Given the description of an element on the screen output the (x, y) to click on. 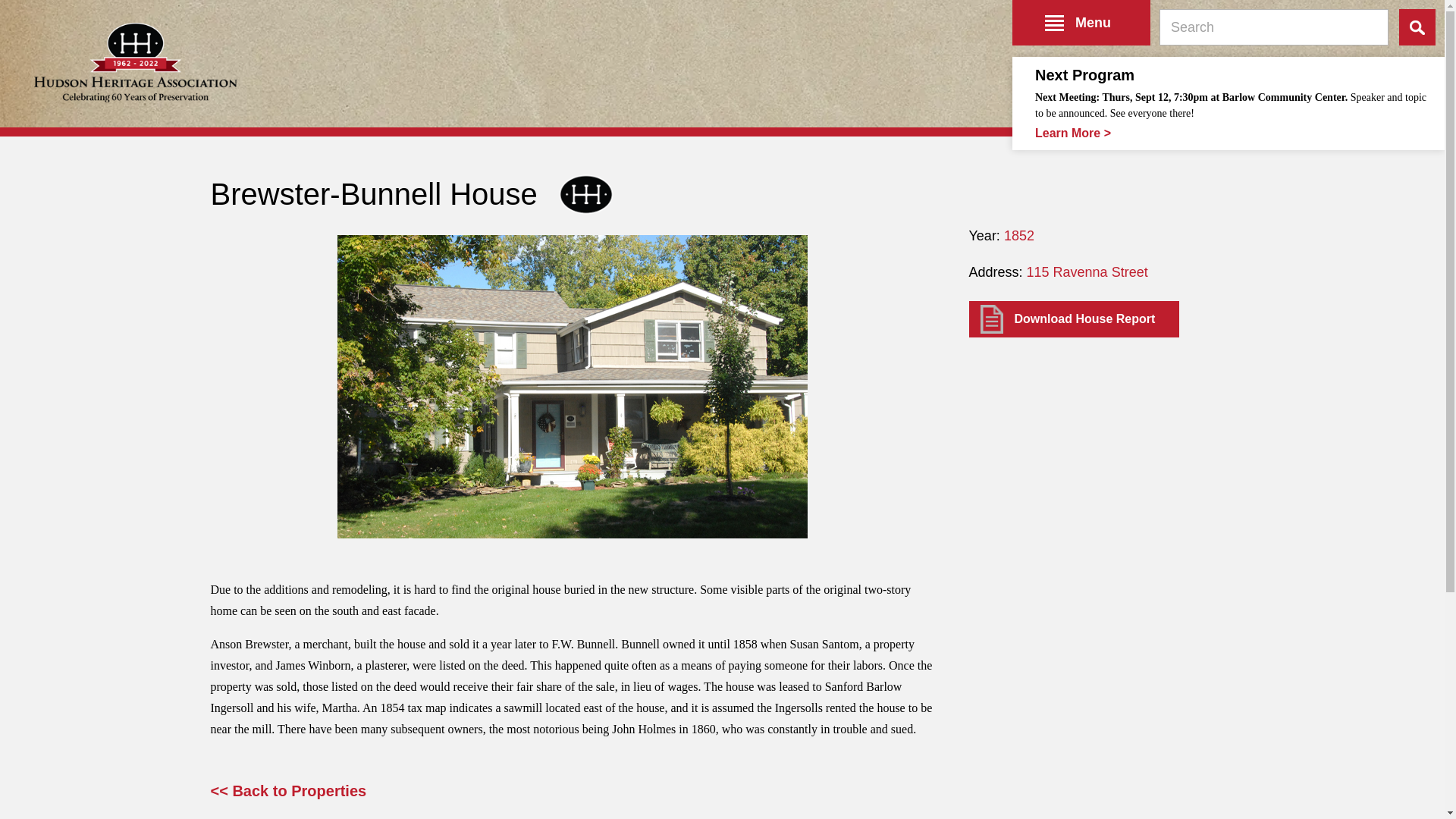
115 Ravenna Street (1087, 272)
Search (1417, 27)
Menu (1080, 22)
1852 (1018, 235)
Search (1417, 27)
Download House Report (1074, 319)
Hudson Heritage Association (135, 62)
